Given the description of an element on the screen output the (x, y) to click on. 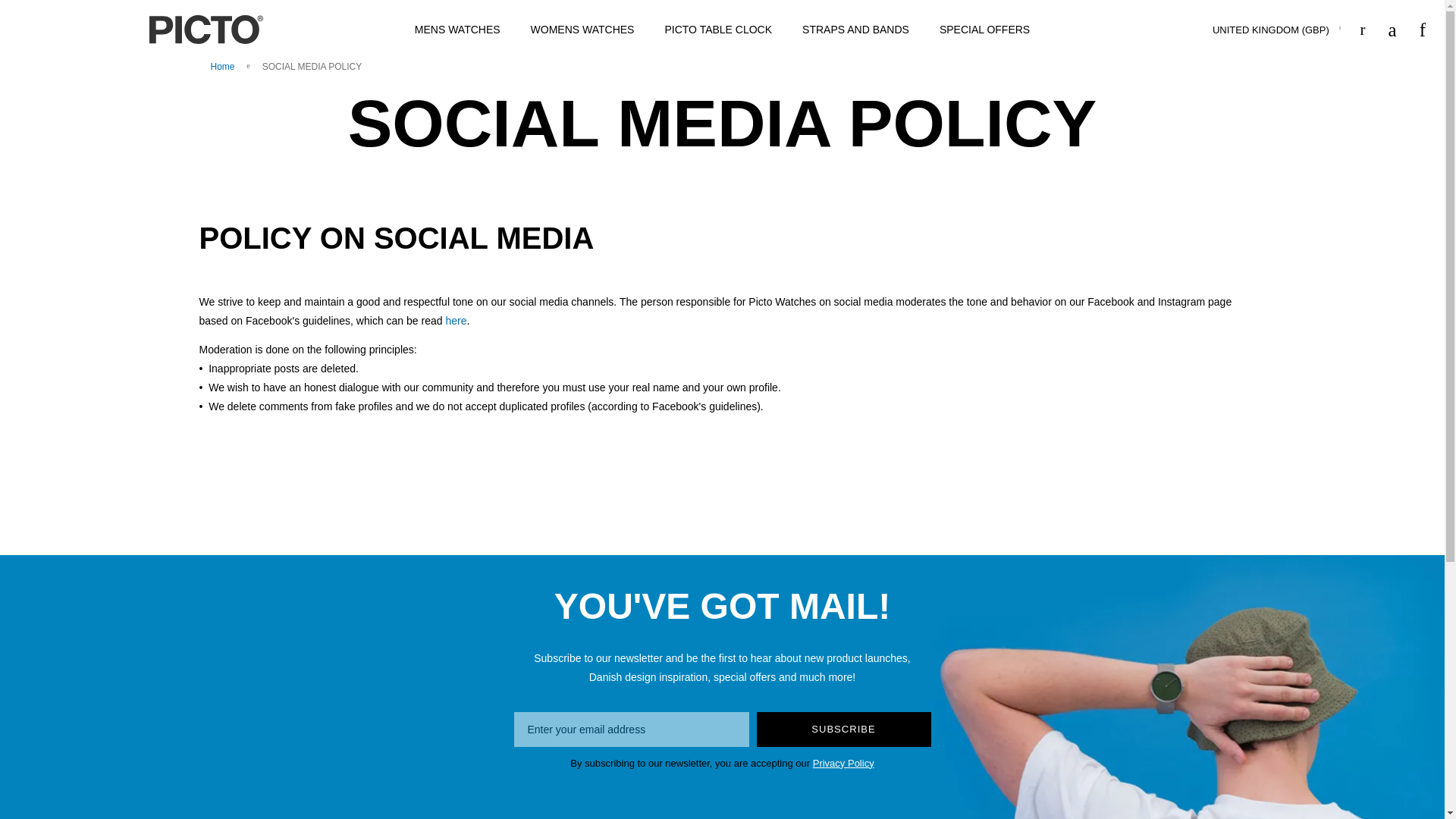
here (455, 320)
Privacy Policy (843, 763)
MENS WATCHES (456, 29)
STRAPS AND BANDS (855, 29)
WOMENS WATCHES (582, 29)
SPECIAL OFFERS (984, 29)
SUBSCRIBE (844, 728)
Home (224, 66)
PICTO TABLE CLOCK (718, 29)
Go to Home Page (224, 66)
